Given the description of an element on the screen output the (x, y) to click on. 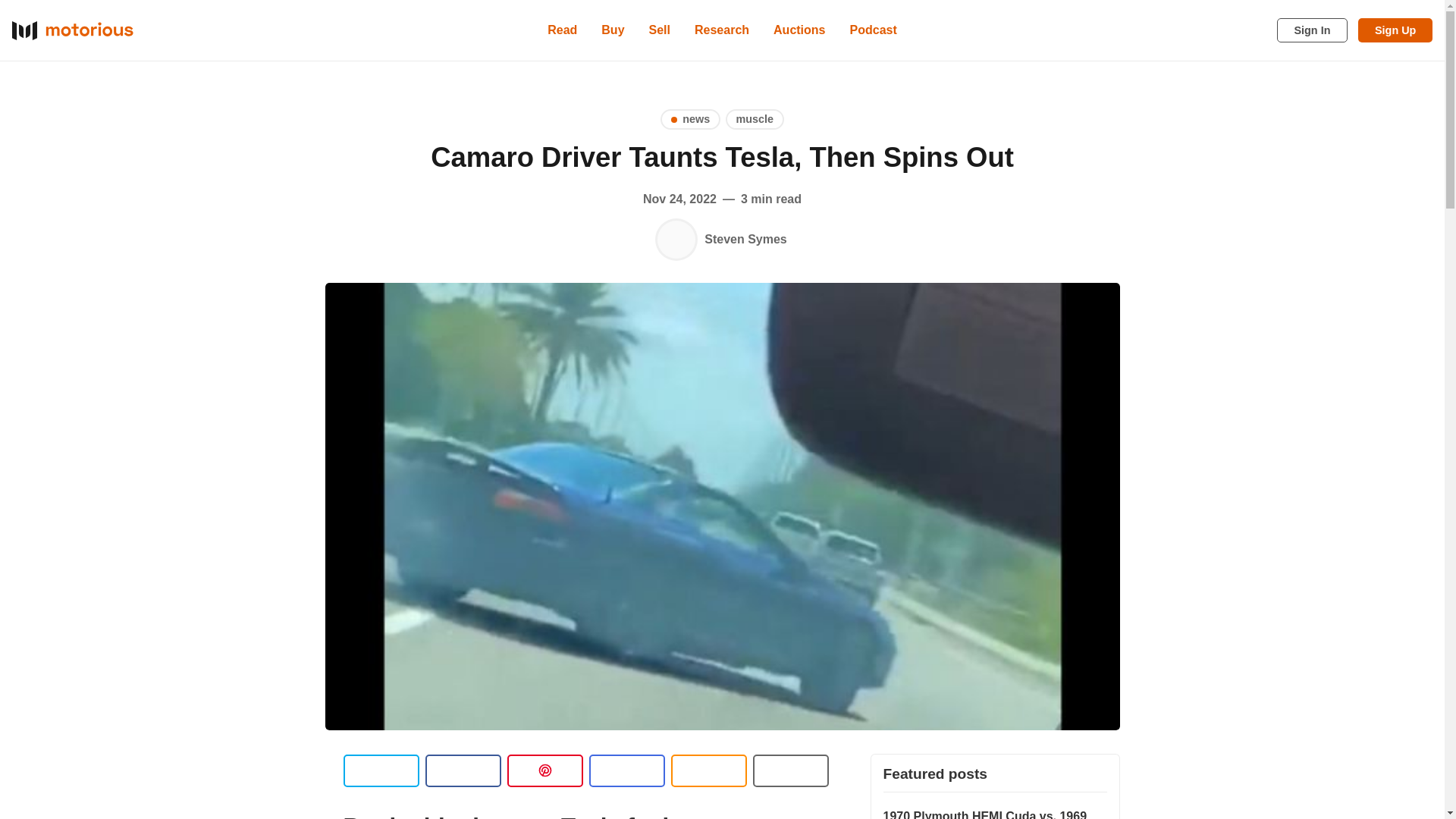
Auctions (799, 29)
news (690, 118)
Podcast (873, 29)
Bookmark (790, 770)
Share on Twitter (380, 770)
muscle (754, 118)
Sign Up (1395, 30)
Share on Facebook (462, 770)
Copy to clipboard (707, 770)
Research (721, 29)
